Given the description of an element on the screen output the (x, y) to click on. 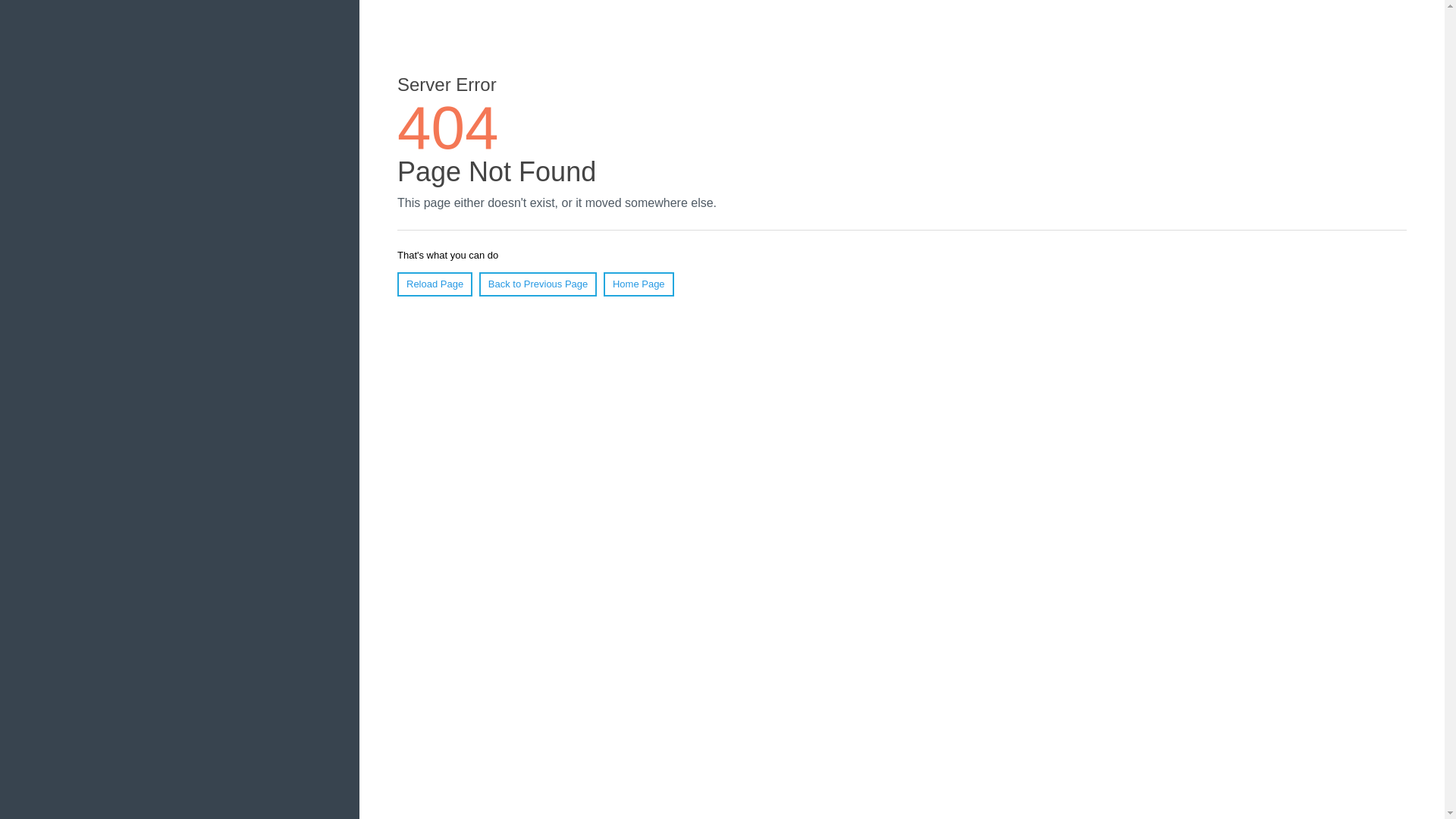
Back to Previous Page (537, 283)
Reload Page (434, 283)
Home Page (639, 283)
